Given the description of an element on the screen output the (x, y) to click on. 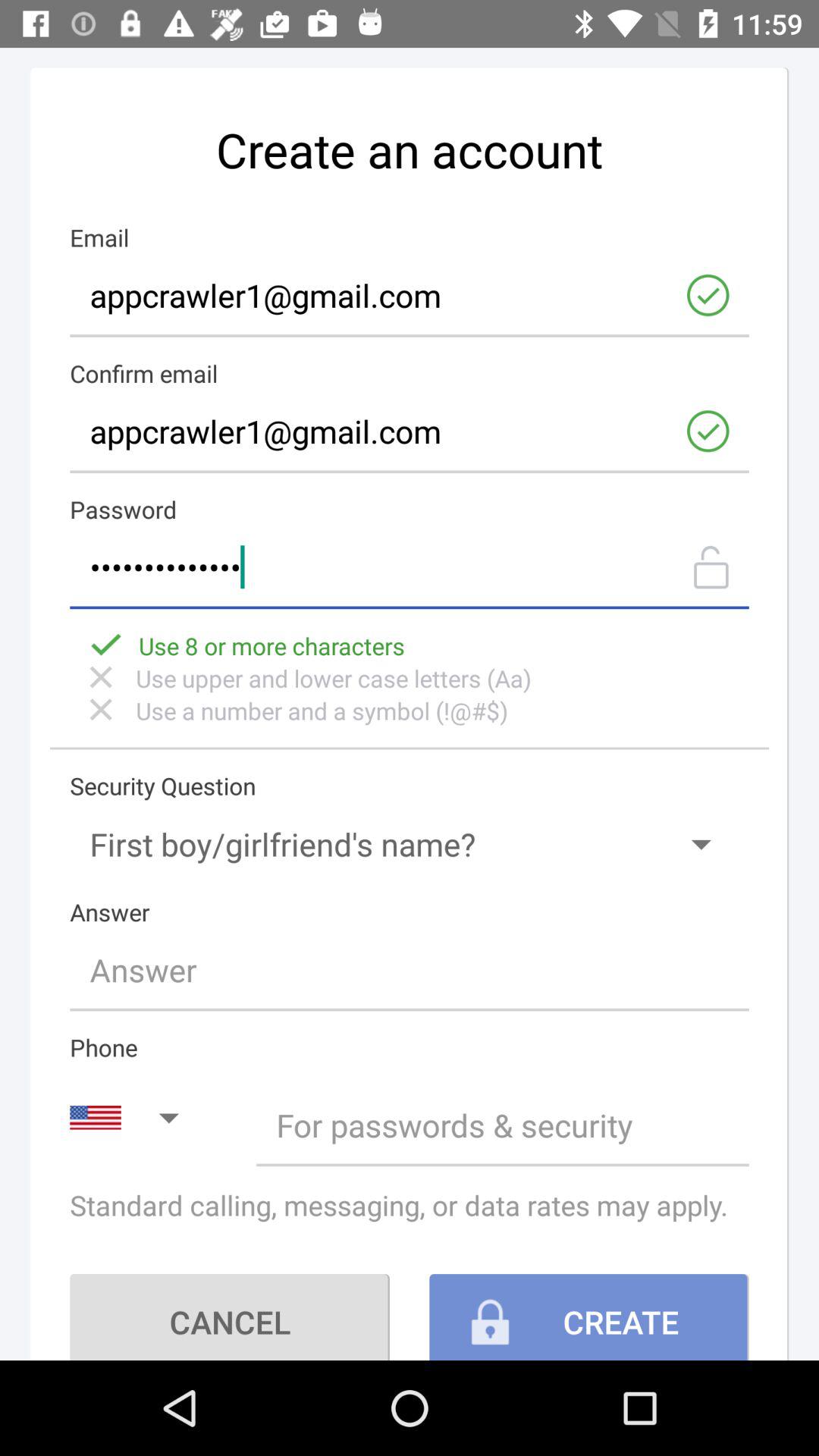
enter your phone number (502, 1124)
